Given the description of an element on the screen output the (x, y) to click on. 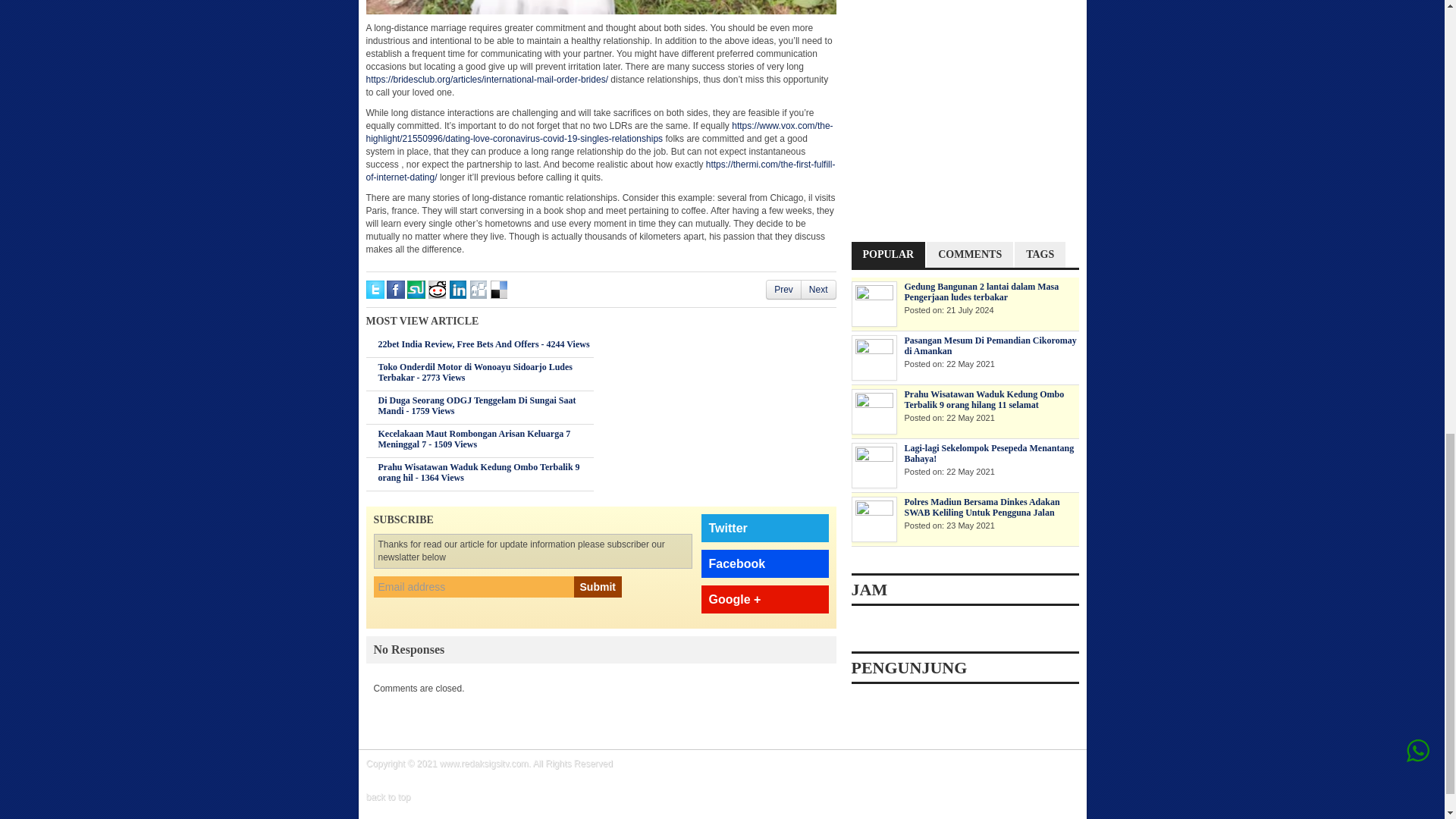
Prev (783, 289)
Next (818, 289)
GPlus (764, 599)
Facebook (764, 563)
Twitter (764, 528)
Permalink to 22bet India Review, Free Bets And Offers (483, 344)
